Given the description of an element on the screen output the (x, y) to click on. 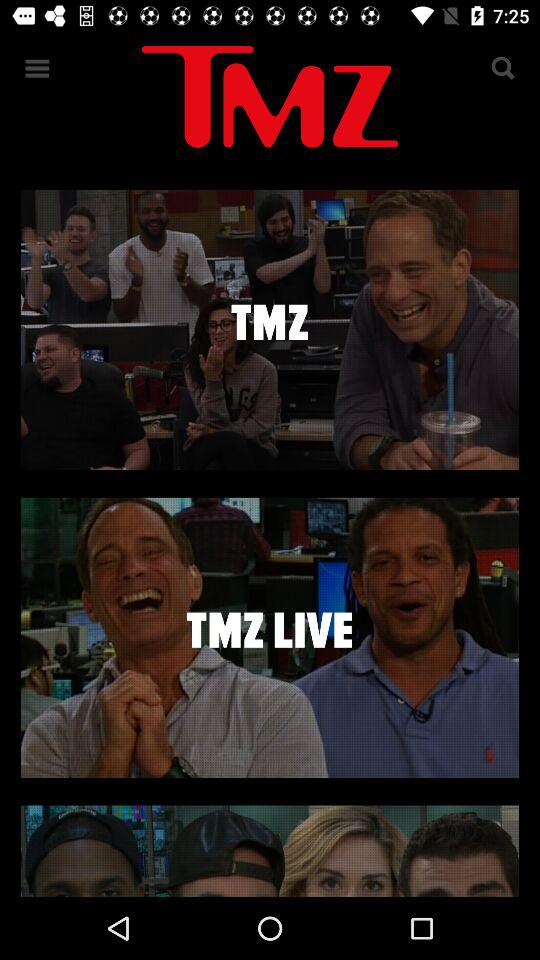
go to tmz live (270, 637)
